Given the description of an element on the screen output the (x, y) to click on. 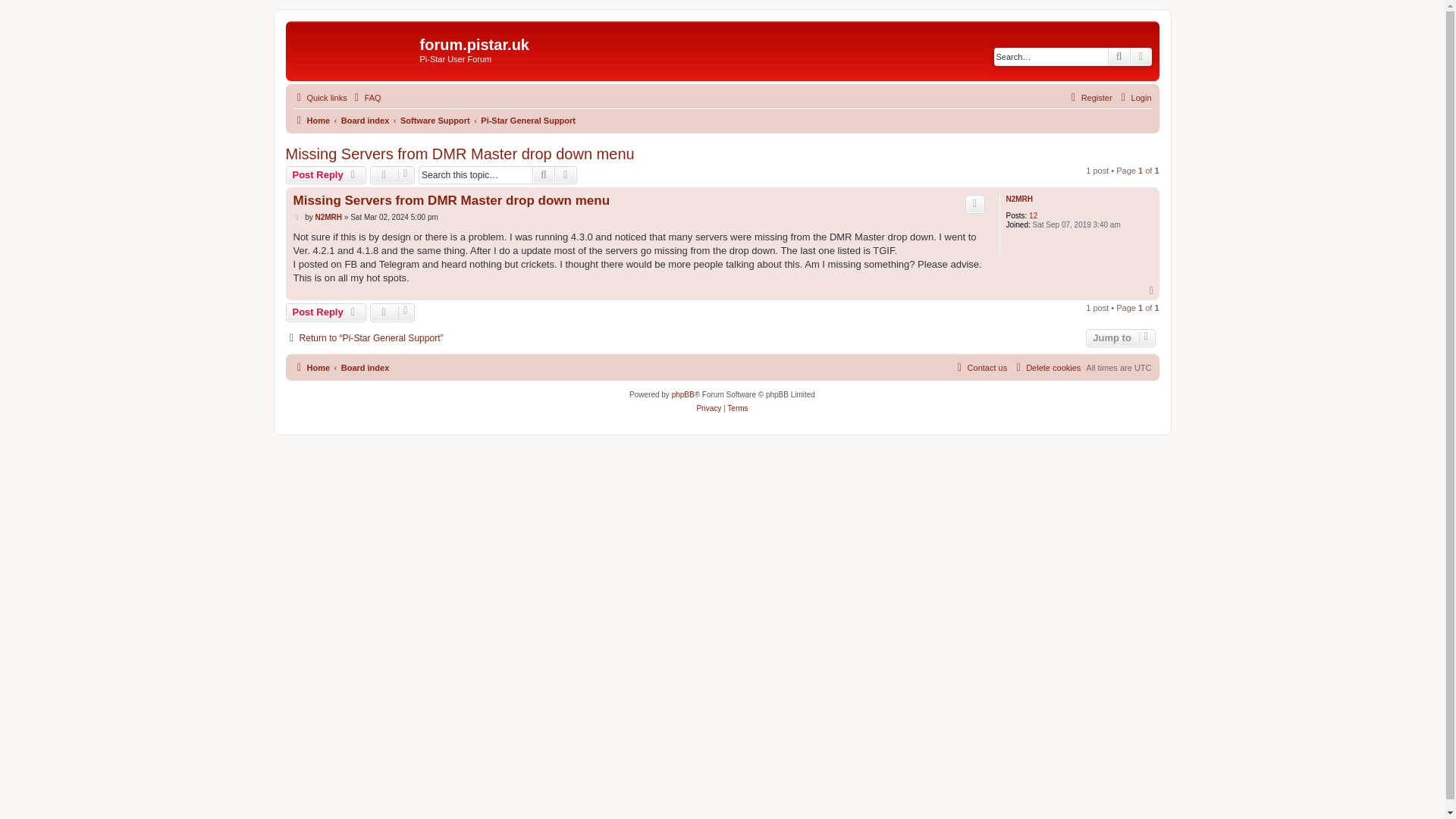
Post a reply (325, 312)
N2MRH (1019, 198)
Post Reply (325, 175)
Search (543, 175)
Login (1134, 97)
Login (1134, 97)
Register (1089, 97)
Top (1151, 290)
Post (297, 216)
Advanced search (565, 175)
